Given the description of an element on the screen output the (x, y) to click on. 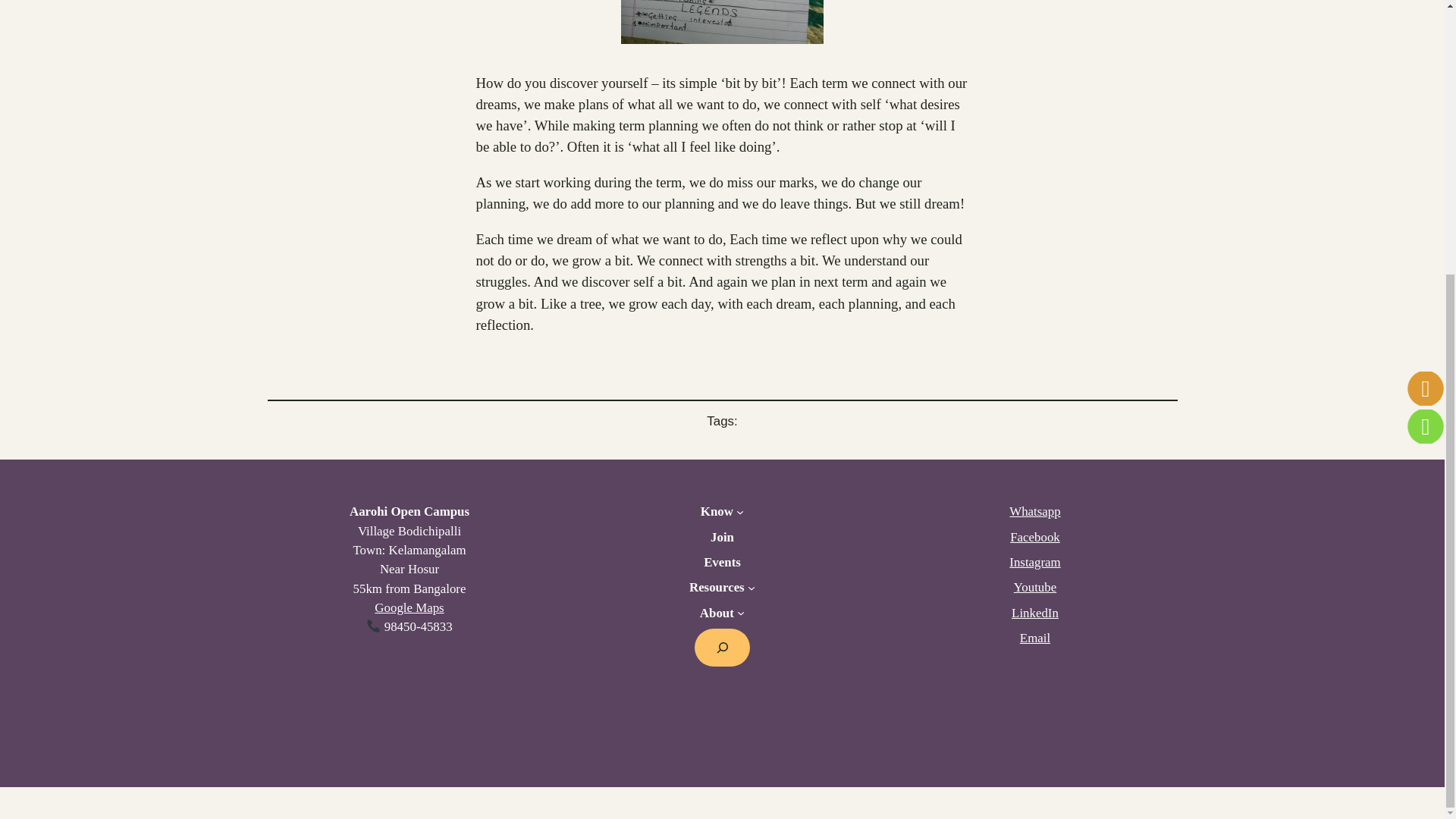
Resources (716, 587)
Know (716, 511)
Join (721, 537)
Events (722, 561)
Google Maps (409, 607)
